Given the description of an element on the screen output the (x, y) to click on. 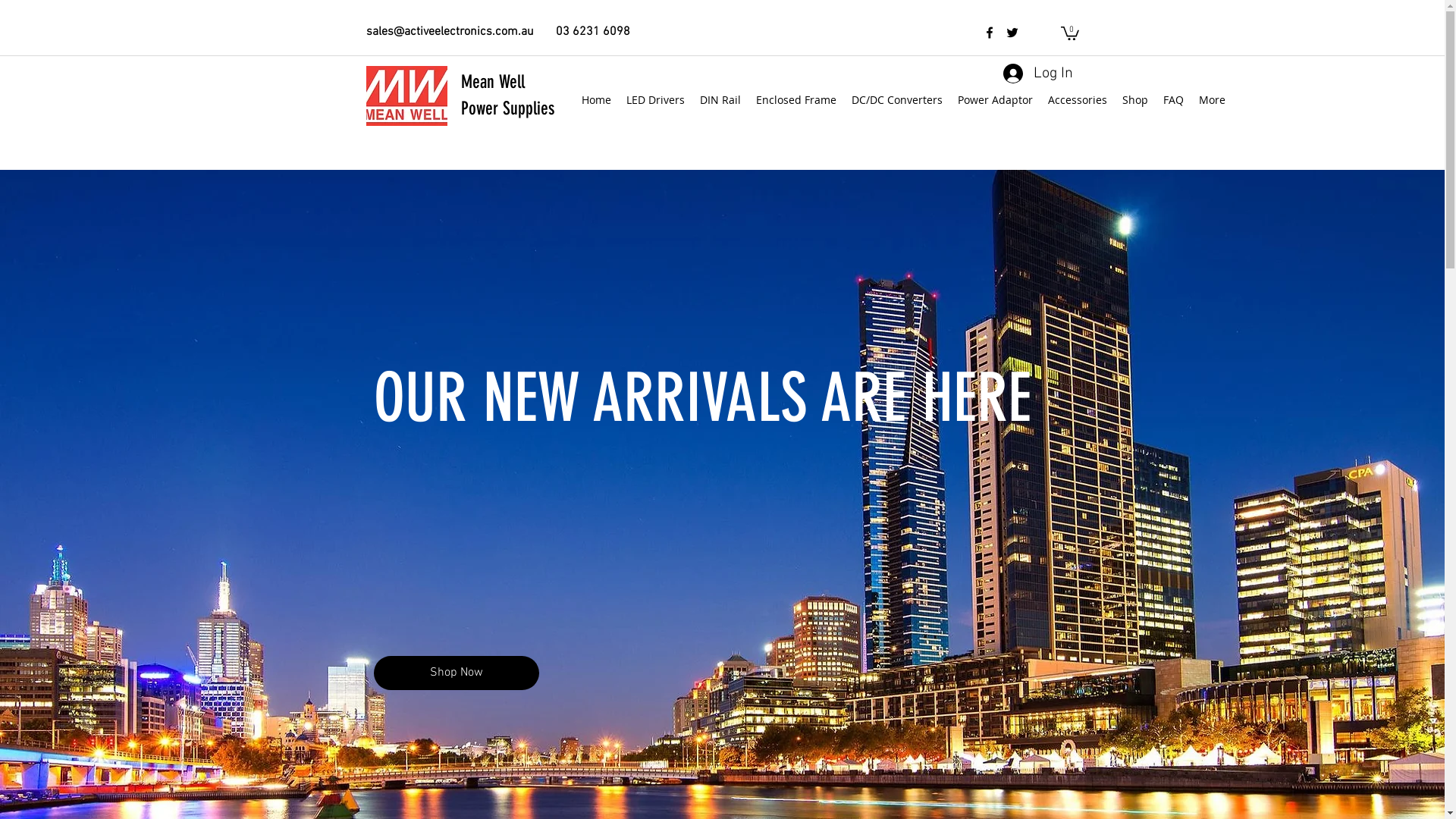
Power Adaptor Element type: text (994, 99)
DC/DC Converters Element type: text (896, 99)
Shop Now Element type: text (455, 672)
FAQ Element type: text (1173, 99)
Home Element type: text (595, 99)
Log In Element type: text (1036, 73)
Enclosed Frame Element type: text (795, 99)
Accessories Element type: text (1077, 99)
DIN Rail Element type: text (719, 99)
Shop Element type: text (1134, 99)
0 Element type: text (1069, 32)
sales@activeelectronics.com.au Element type: text (449, 31)
